Given the description of an element on the screen output the (x, y) to click on. 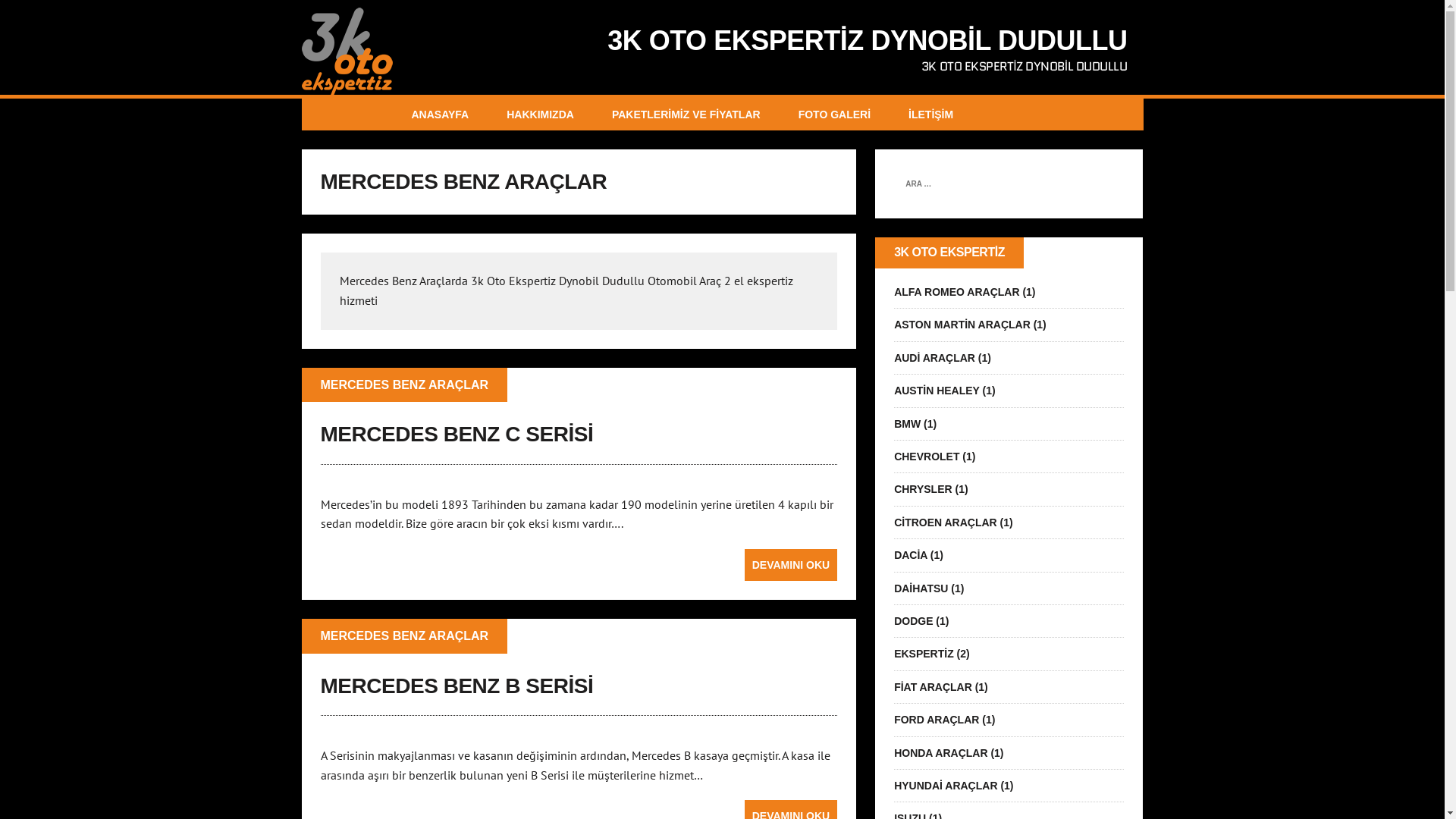
MERCEDES BENZ C SERISI Element type: text (456, 433)
Ara Element type: text (15, 11)
DACIA Element type: text (910, 555)
DAIHATSU Element type: text (920, 588)
DEVAMINI OKU Element type: text (790, 564)
HAKKIMIZDA Element type: text (540, 114)
PAKETLERIMIZ VE FIYATLAR Element type: text (686, 114)
FOTO GALERI Element type: text (834, 114)
ANASAYFA Element type: text (440, 114)
AUSTIN HEALEY Element type: text (936, 390)
EKSPERTIZ Element type: text (923, 653)
CHEVROLET Element type: text (926, 456)
BMW Element type: text (907, 423)
MERCEDES BENZ B SERISI Element type: text (456, 685)
DODGE Element type: text (913, 621)
CHRYSLER Element type: text (923, 489)
